Given the description of an element on the screen output the (x, y) to click on. 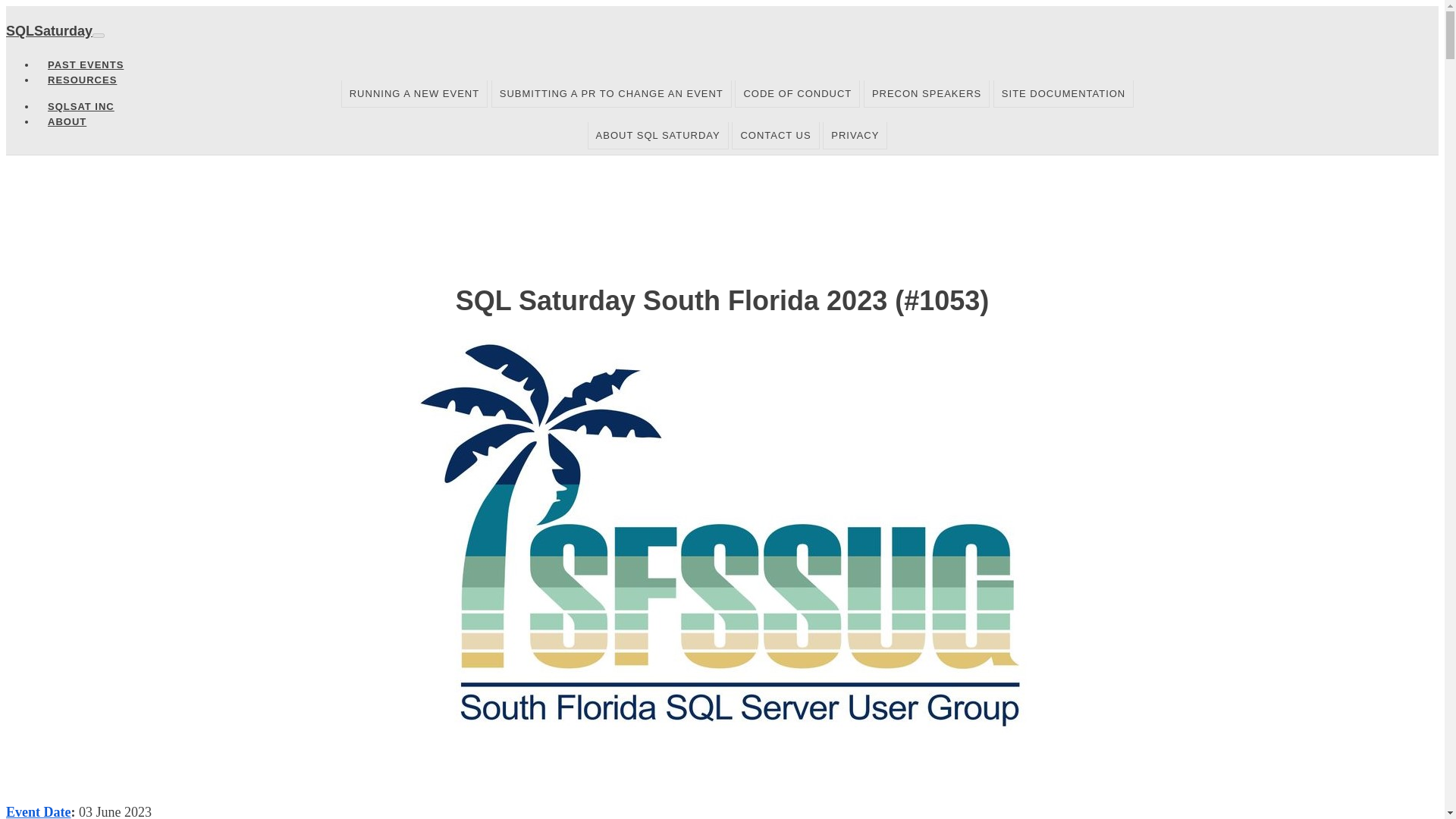
ABOUT SQL SATURDAY (658, 135)
RUNNING A NEW EVENT (413, 93)
CONTACT US (775, 135)
ABOUT (66, 121)
CODE OF CONDUCT (797, 93)
RESOURCES (82, 80)
SQLSAT INC (80, 106)
SQLSaturday (49, 30)
PRECON SPEAKERS (926, 93)
SUBMITTING A PR TO CHANGE AN EVENT (612, 93)
PAST EVENTS (85, 64)
Event Date (37, 811)
SITE DOCUMENTATION (1063, 93)
PRIVACY (854, 135)
